Given the description of an element on the screen output the (x, y) to click on. 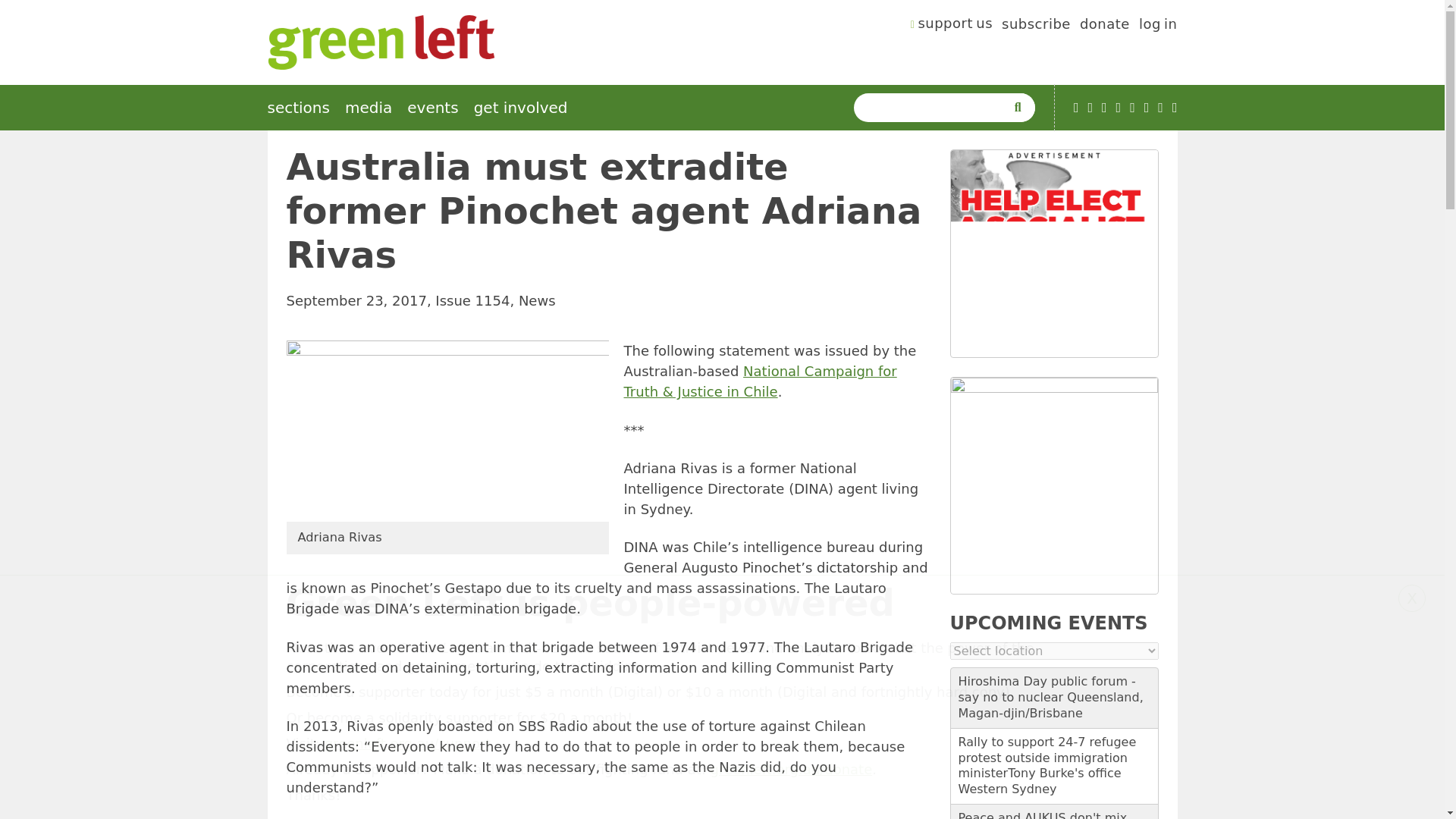
log in (1157, 26)
events (432, 107)
Enter the terms you wish to search for. (932, 107)
subscribe (1035, 26)
donate (1104, 26)
support us (951, 26)
